Given the description of an element on the screen output the (x, y) to click on. 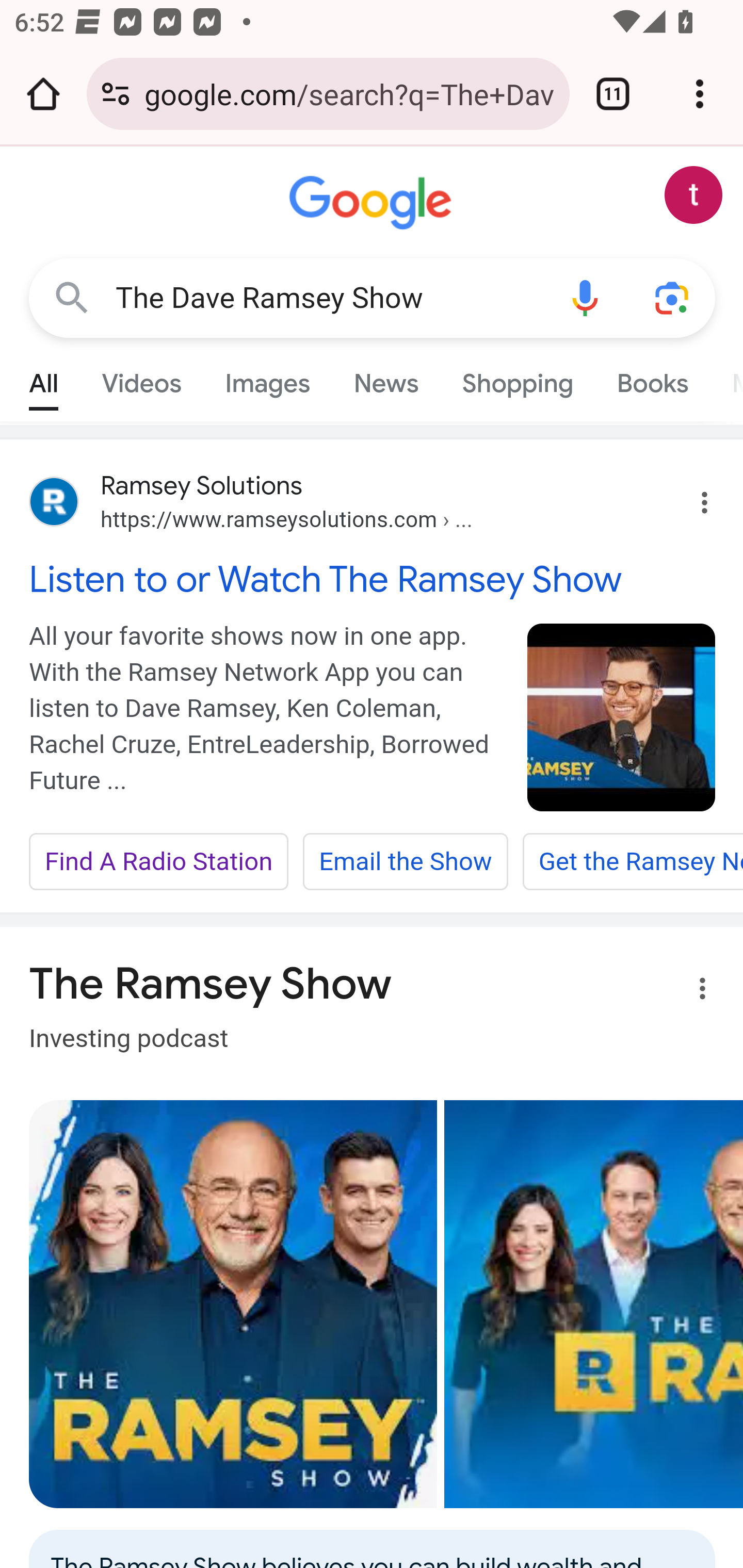
Open the home page (43, 93)
Connection is secure (115, 93)
Switch or close tabs (612, 93)
Customize and control Google Chrome (699, 93)
Google (372, 203)
Google Search (71, 296)
Search using your camera or photos (672, 296)
The Dave Ramsey Show (328, 297)
Videos (141, 378)
Images (267, 378)
News (385, 378)
Shopping (516, 378)
Books (652, 378)
Listen to or Watch The Ramsey Show (372, 579)
the-ramsey-show (621, 717)
Find A Radio Station (158, 862)
Email the Show (404, 862)
Get the Ramsey Network App (632, 862)
More options (690, 991)
Ramsey Network - Ramsey (233, 1303)
The Ramsey Show - KXRO News Radio (593, 1303)
